Given the description of an element on the screen output the (x, y) to click on. 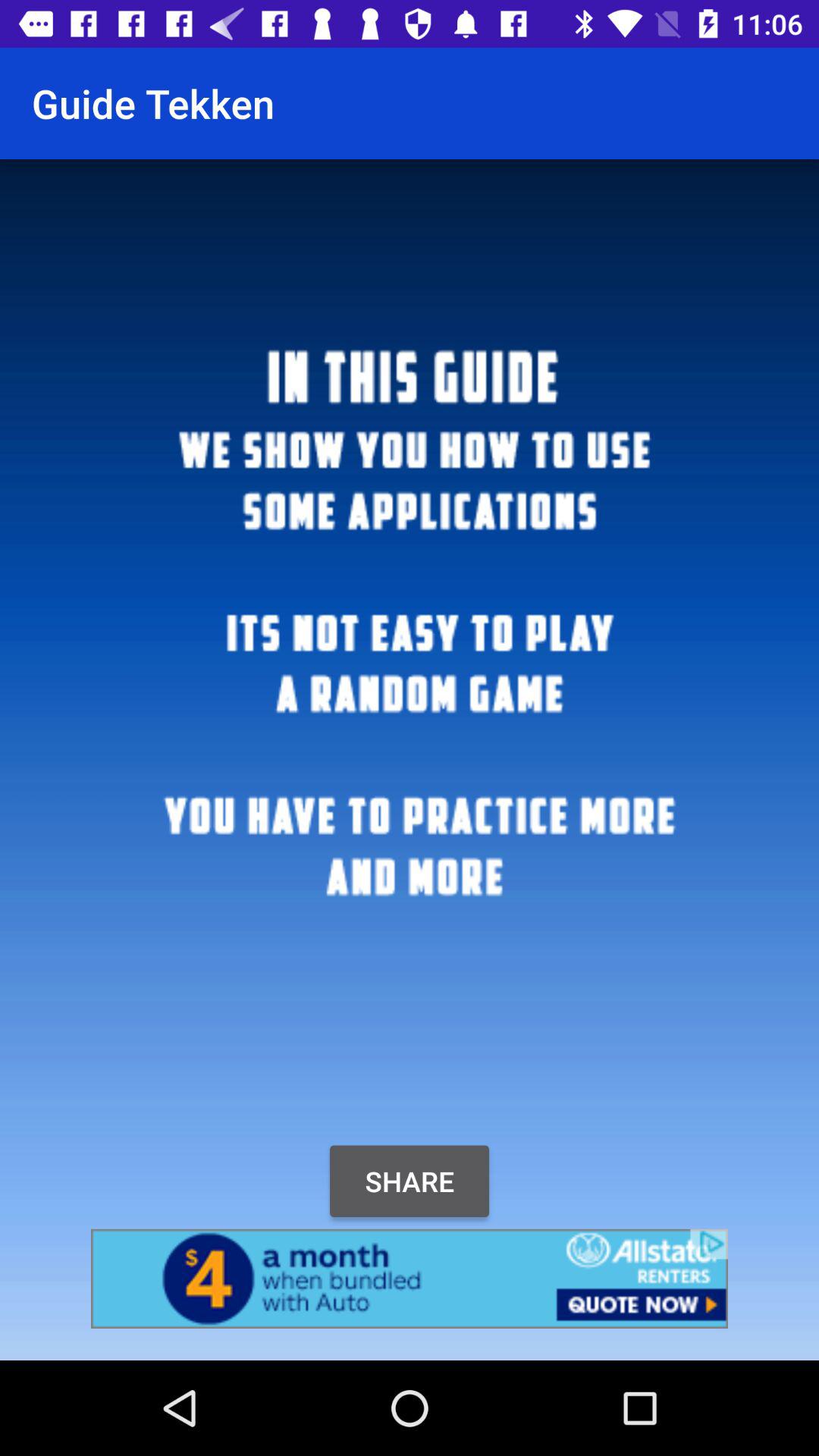
open advertisement (409, 1278)
